Given the description of an element on the screen output the (x, y) to click on. 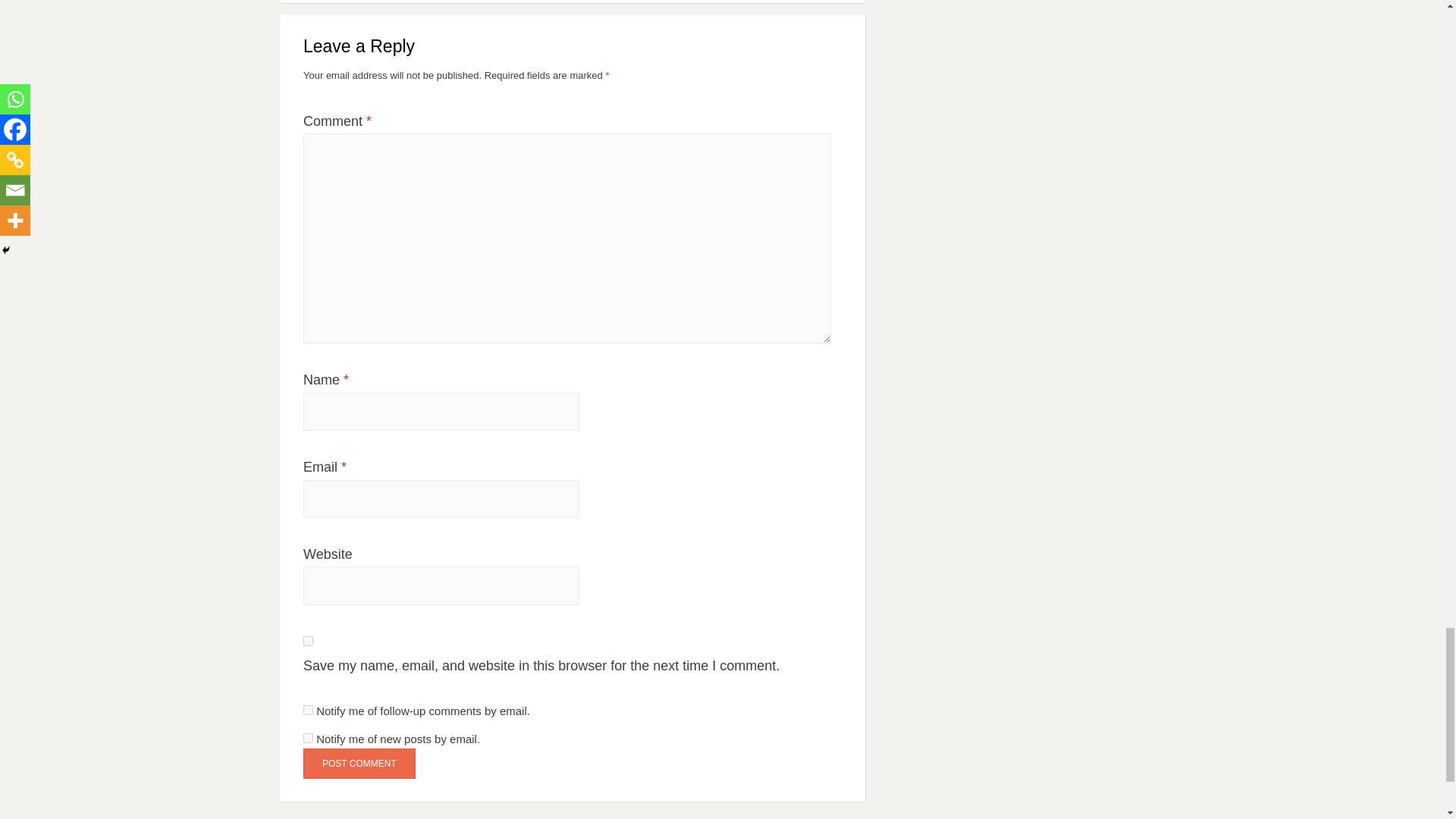
subscribe (307, 709)
subscribe (307, 737)
Post Comment (358, 762)
yes (307, 641)
